Given the description of an element on the screen output the (x, y) to click on. 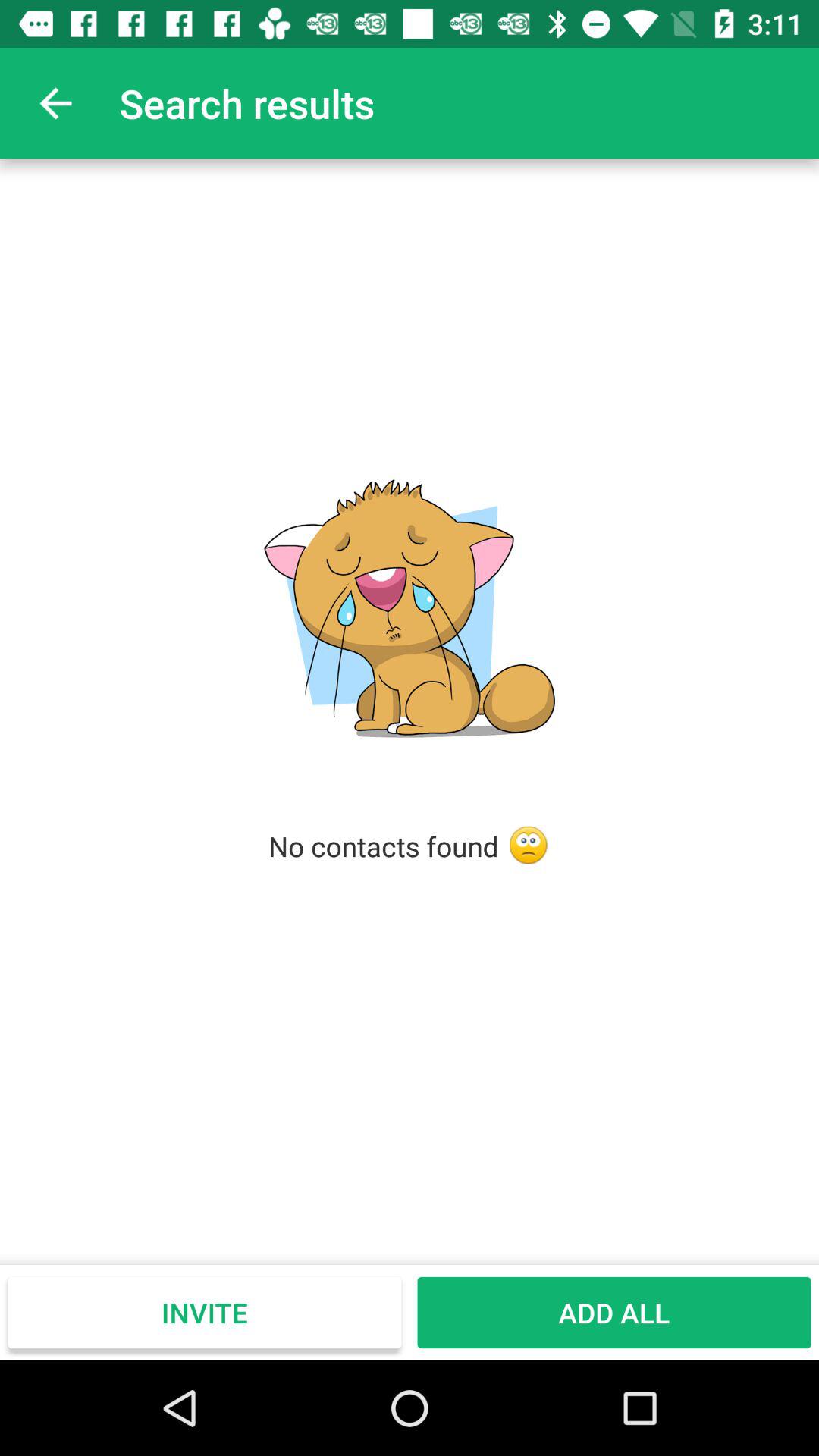
choose the item to the left of the add all icon (204, 1312)
